Given the description of an element on the screen output the (x, y) to click on. 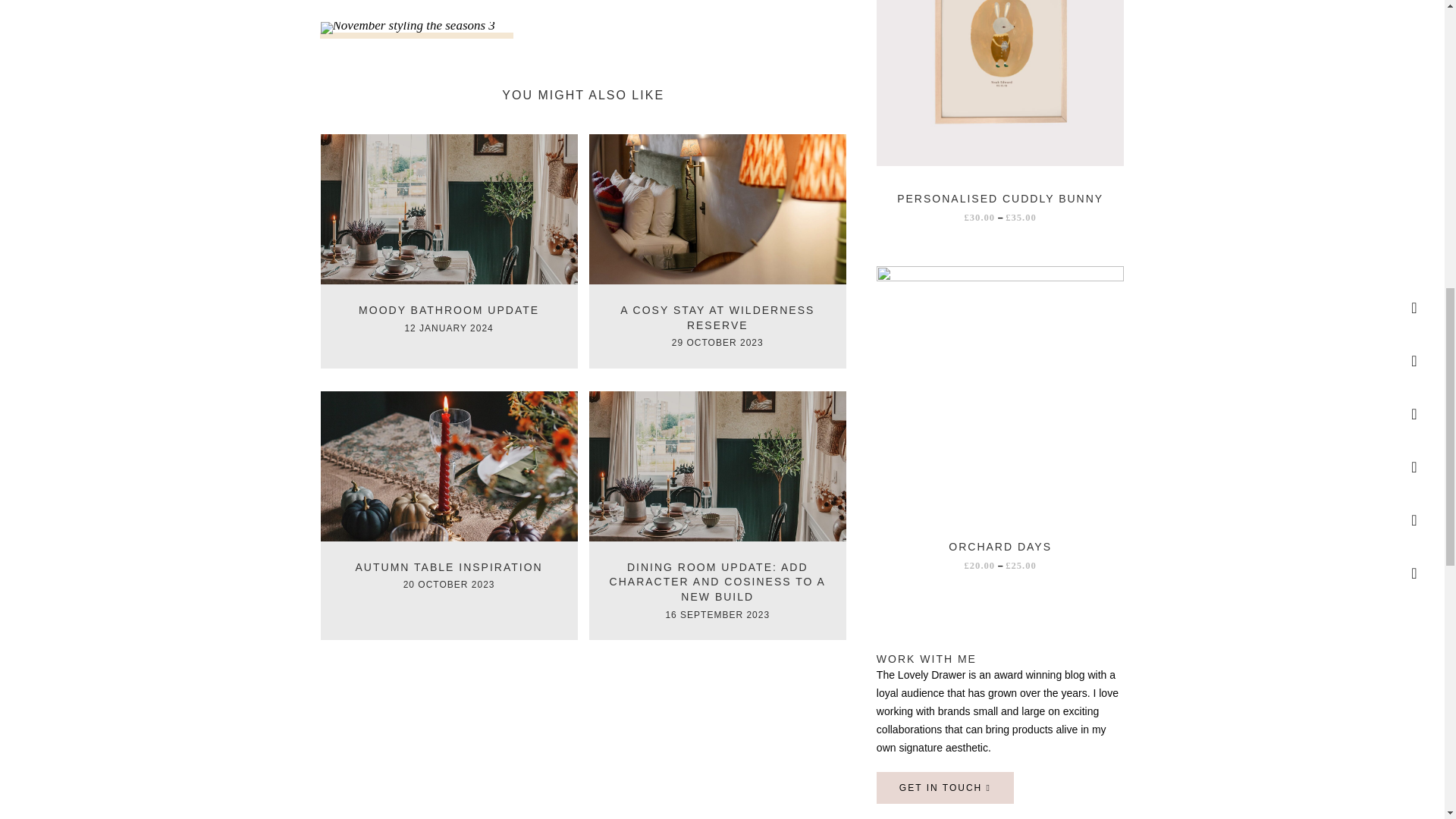
moody bathroom update (448, 208)
Autumn table inspiration (449, 567)
AUTUMN TABLE INSPIRATION (449, 567)
MOODY BATHROOM UPDATE (448, 309)
A cosy stay at wilderness reserve (716, 317)
GET IN TOUCH (944, 787)
A cosy stay at wilderness reserve (717, 208)
PERSONALISED CUDDLY BUNNY (1000, 199)
